Given the description of an element on the screen output the (x, y) to click on. 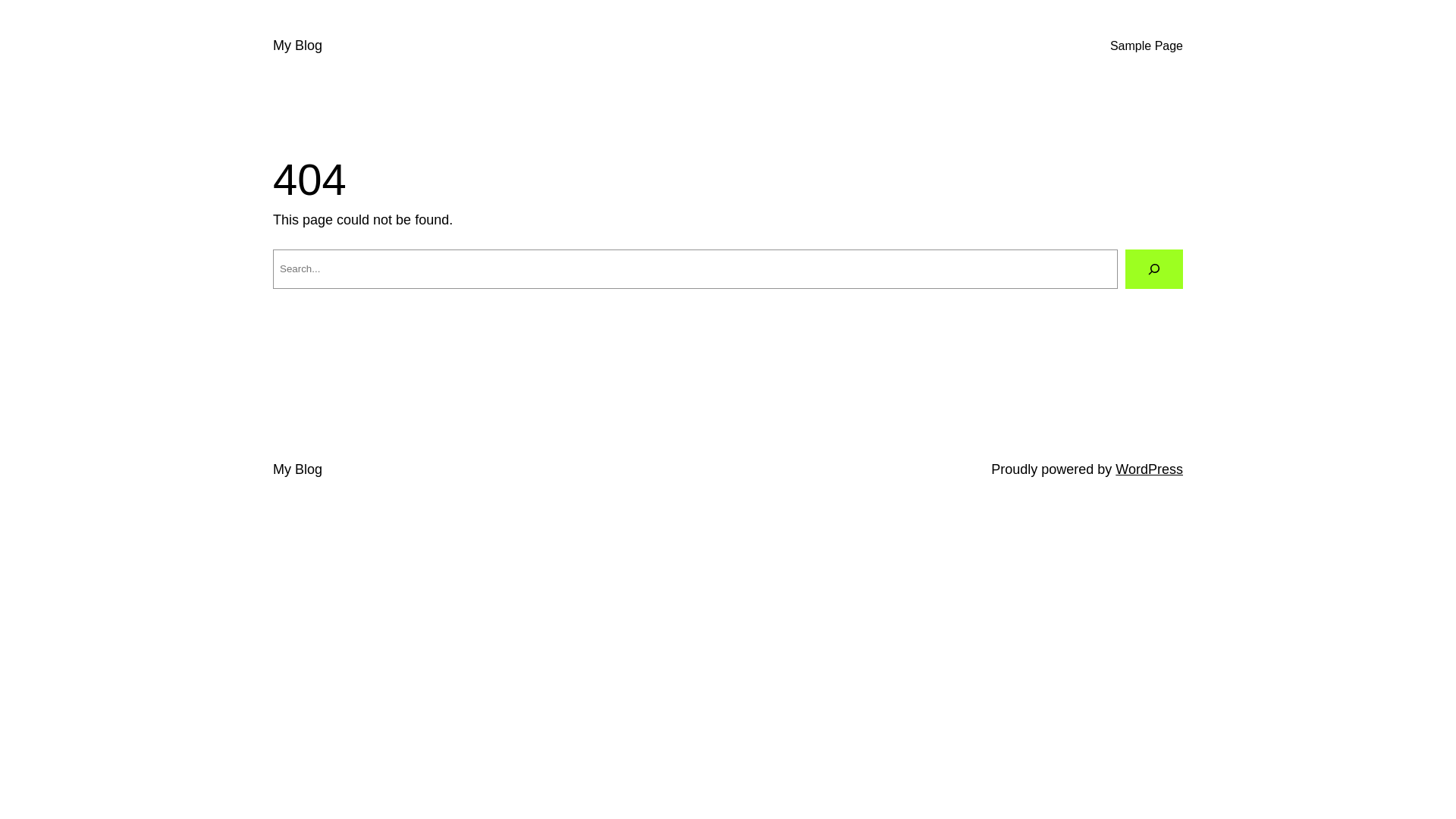
WordPress Element type: text (1149, 468)
Sample Page Element type: text (1146, 46)
My Blog Element type: text (297, 468)
My Blog Element type: text (297, 45)
